Given the description of an element on the screen output the (x, y) to click on. 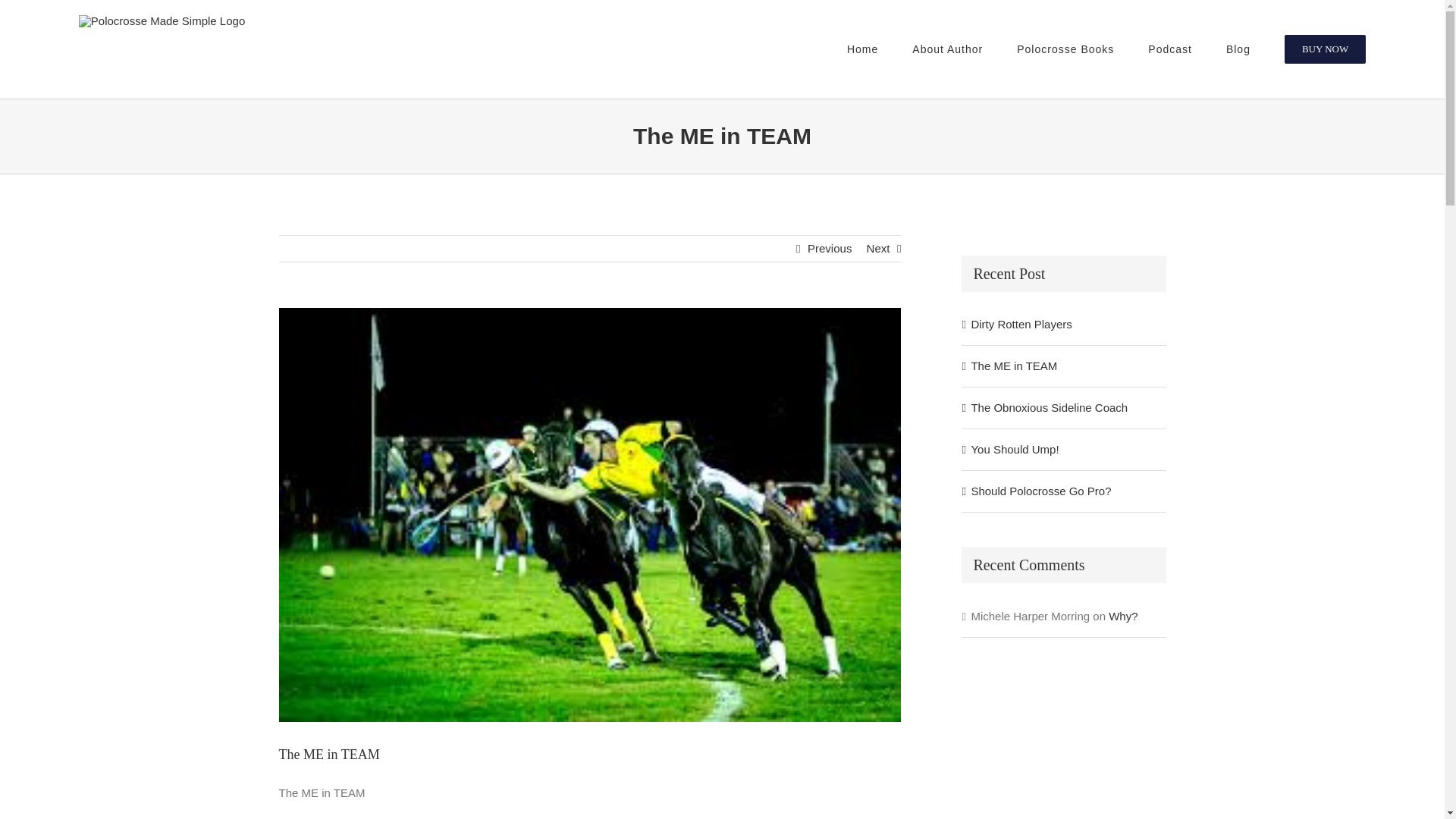
Next (877, 248)
Previous (829, 248)
Polocrosse Books (1064, 49)
